Given the description of an element on the screen output the (x, y) to click on. 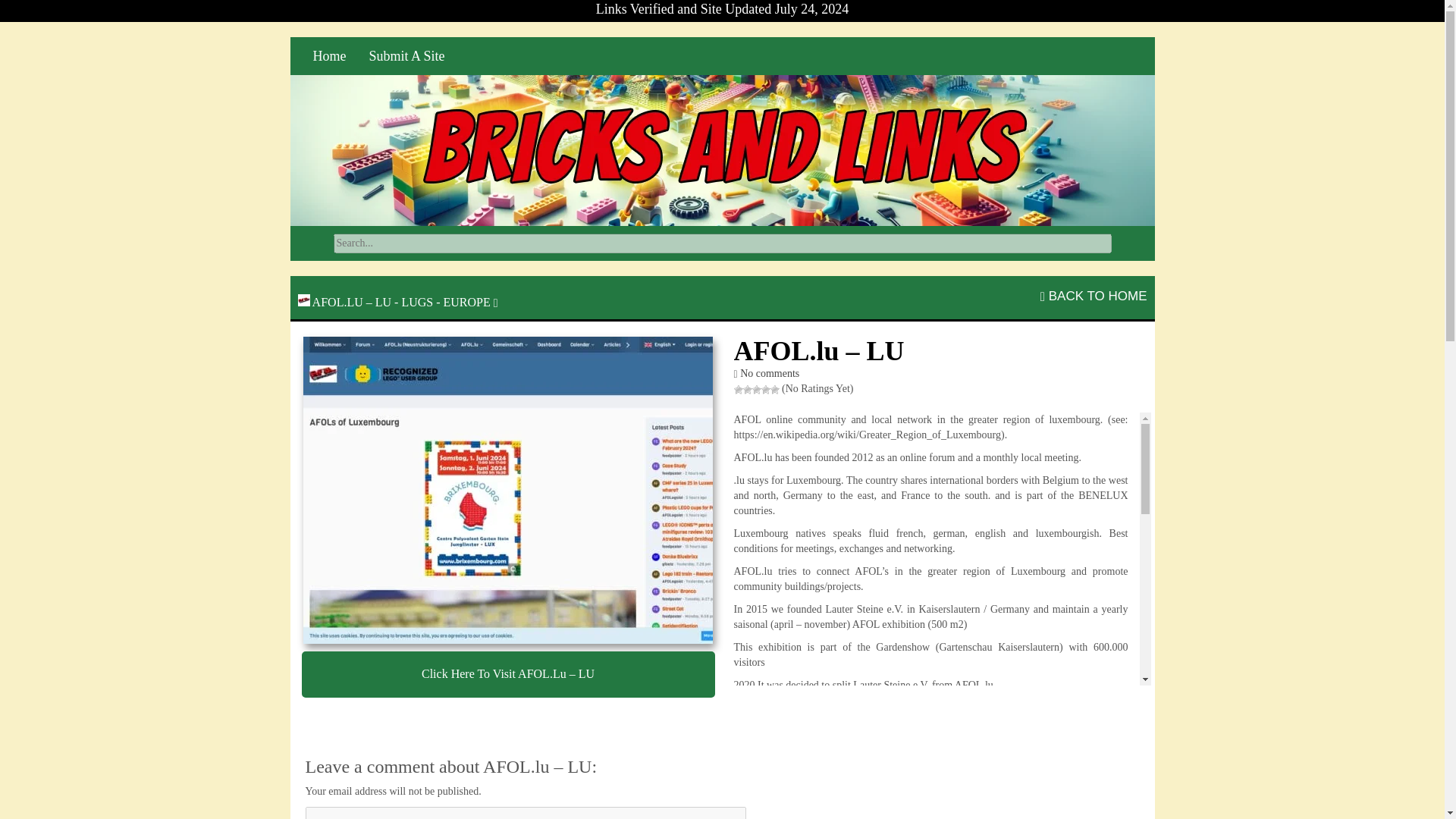
Submit A Site (407, 55)
3 Stars (756, 388)
4 Stars (765, 388)
BACK TO HOME (1094, 296)
1 Star (737, 388)
2 Stars (747, 388)
5 Stars (774, 388)
No comments (769, 373)
LUGS - EUROPE (445, 301)
Home (329, 55)
